Given the description of an element on the screen output the (x, y) to click on. 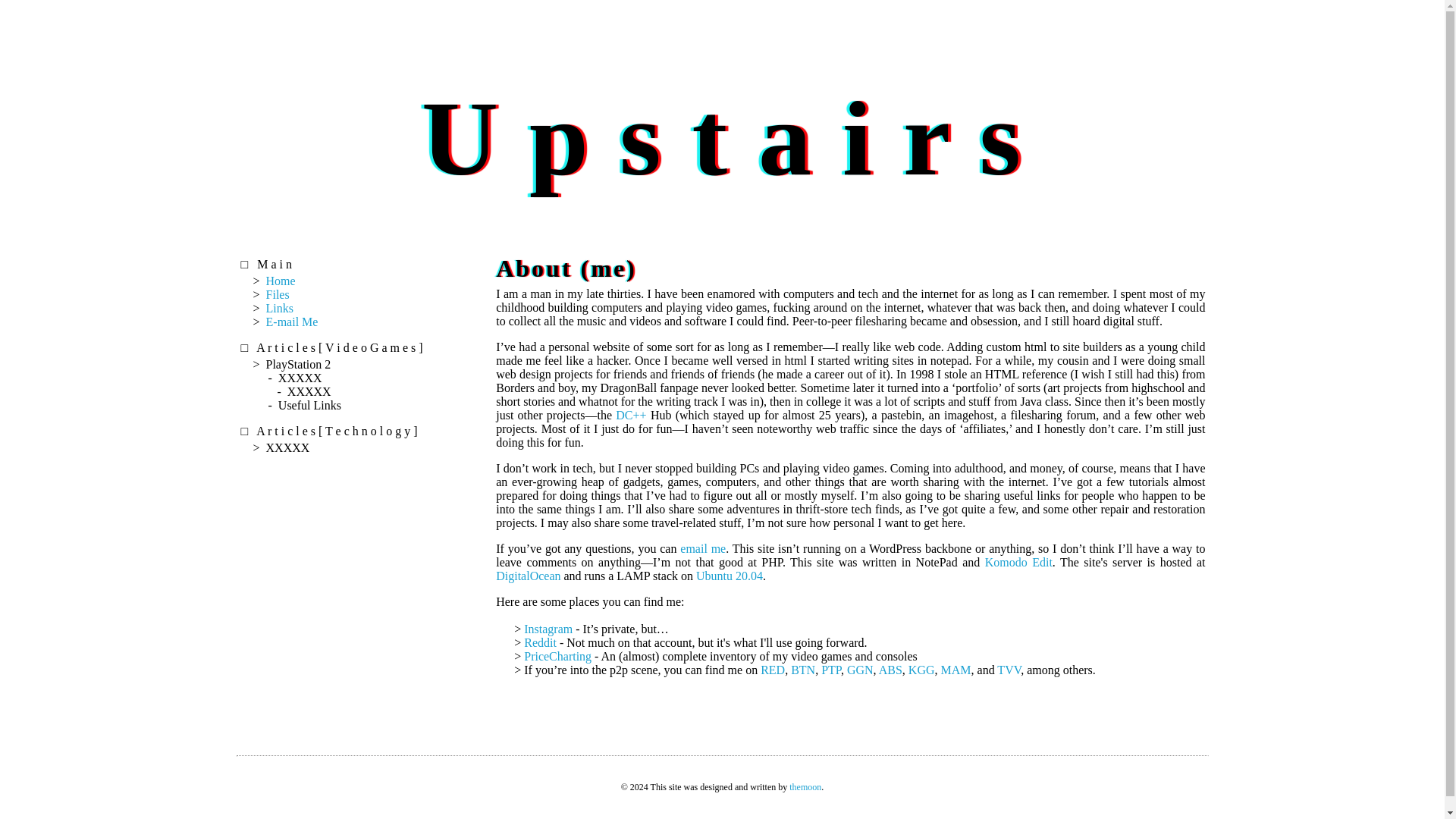
ABS (890, 669)
Instagram (548, 628)
Ubuntu 20.04 (728, 575)
DigitalOcean (528, 575)
E-mail Me (292, 321)
Komodo Edit (1018, 562)
TVV (1008, 669)
PTP (831, 669)
MAM (955, 669)
BTN (802, 669)
PriceCharting (557, 656)
Files (277, 294)
themoon (805, 787)
RED (772, 669)
Home (280, 280)
